Given the description of an element on the screen output the (x, y) to click on. 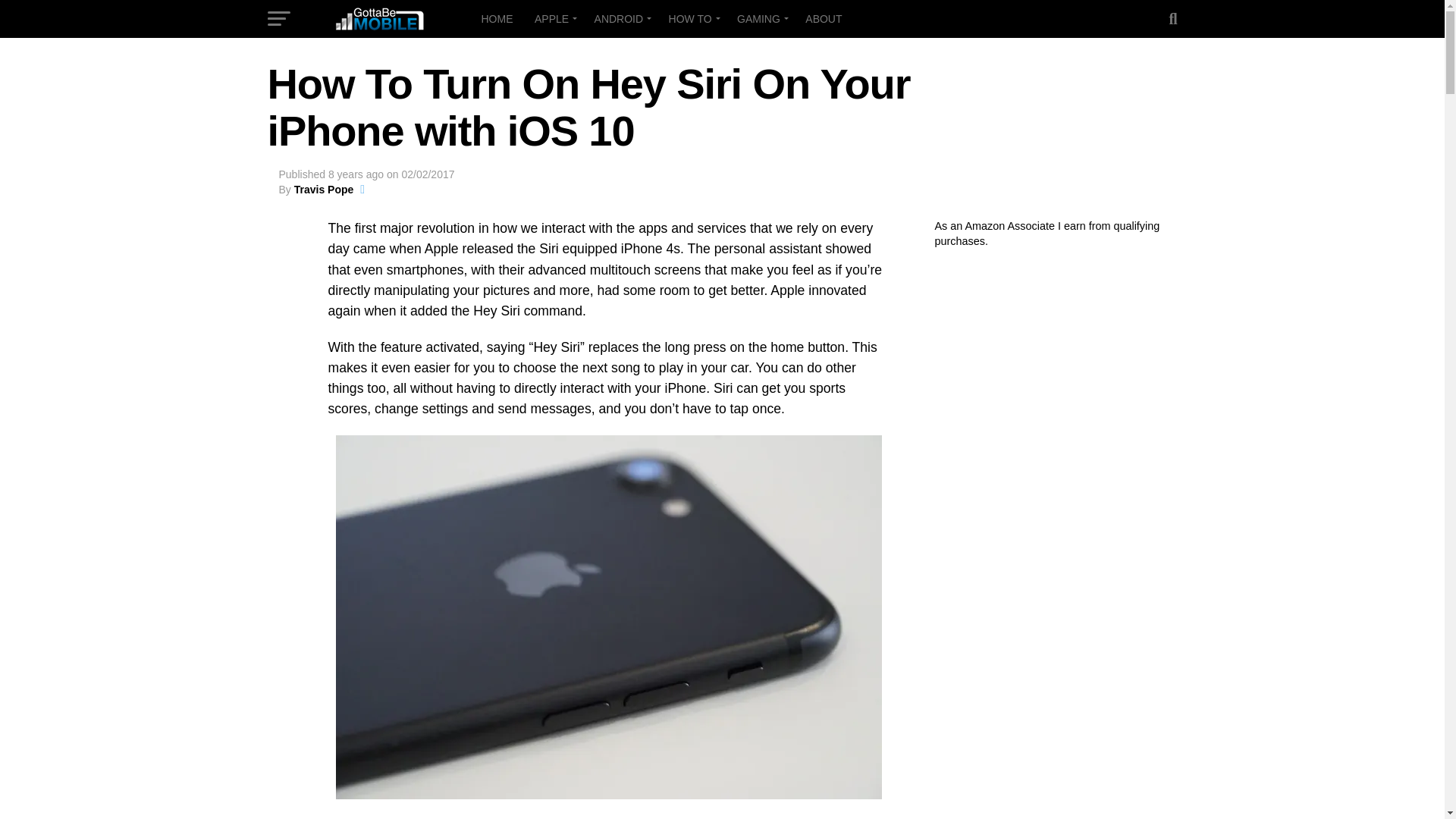
HOW TO (692, 18)
Posts by Travis Pope (323, 189)
GAMING (760, 18)
HOME (496, 18)
APPLE (552, 18)
ANDROID (620, 18)
